Given the description of an element on the screen output the (x, y) to click on. 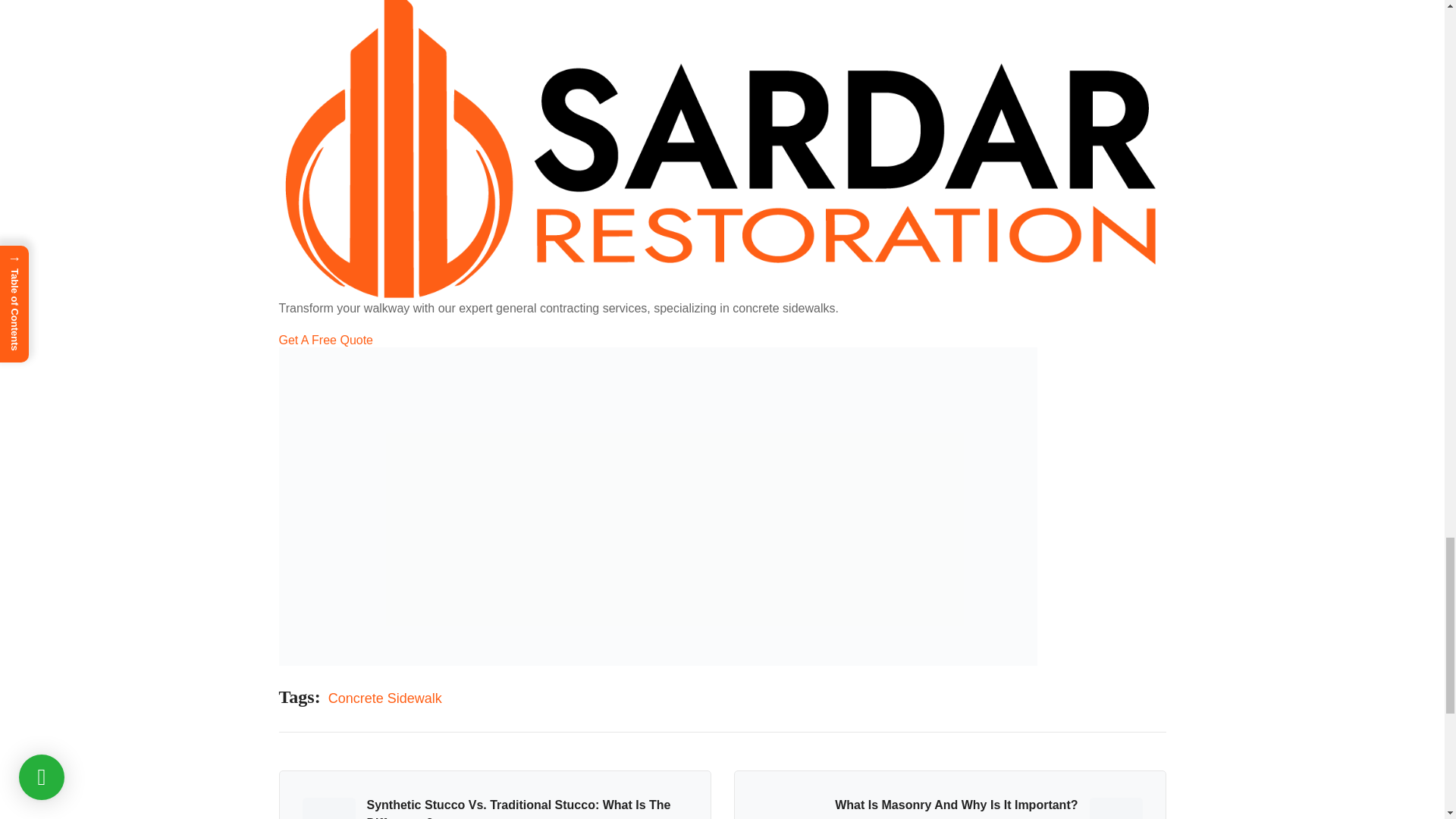
Concrete Sidewalk (385, 698)
Get A Free Quote (722, 340)
